Given the description of an element on the screen output the (x, y) to click on. 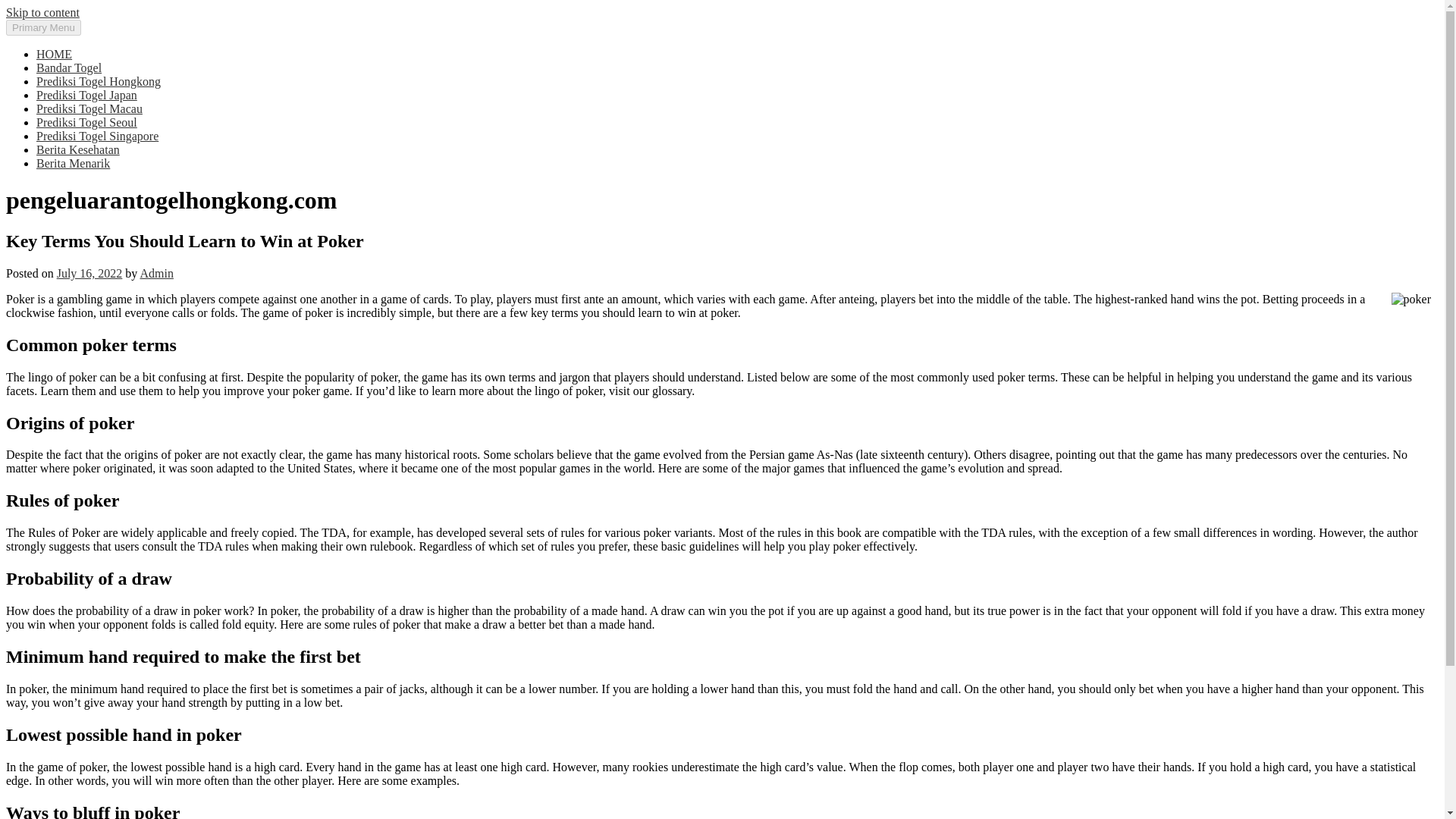
Prediksi Togel Seoul (86, 122)
Prediksi Togel Hongkong (98, 81)
Skip to content (42, 11)
Bandar Togel (68, 67)
Prediksi Togel Macau (89, 108)
Primary Menu (43, 27)
Admin (156, 273)
Prediksi Togel Japan (86, 94)
Prediksi Togel Singapore (97, 135)
Berita Kesehatan (77, 149)
July 16, 2022 (89, 273)
Berita Menarik (73, 163)
HOME (53, 53)
